Given the description of an element on the screen output the (x, y) to click on. 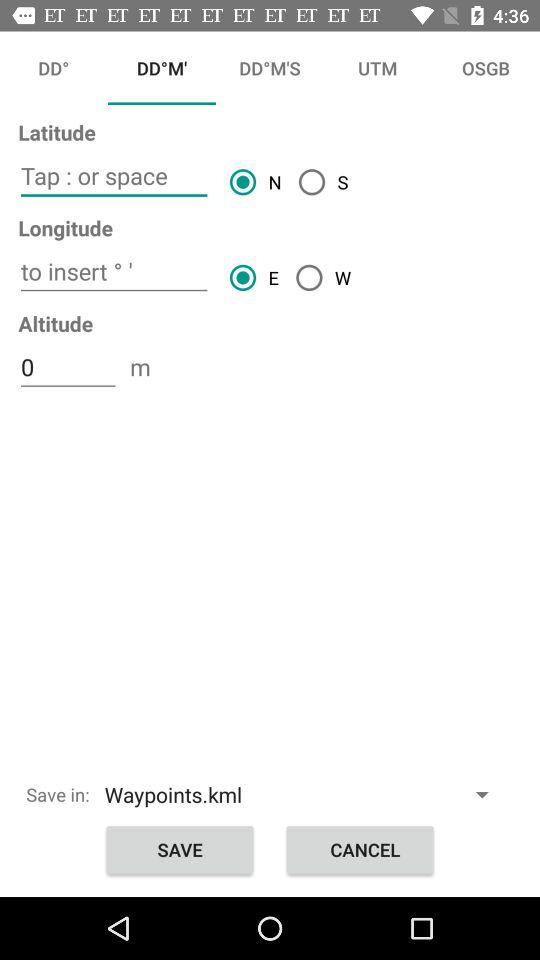
click tap or space (113, 175)
